Given the description of an element on the screen output the (x, y) to click on. 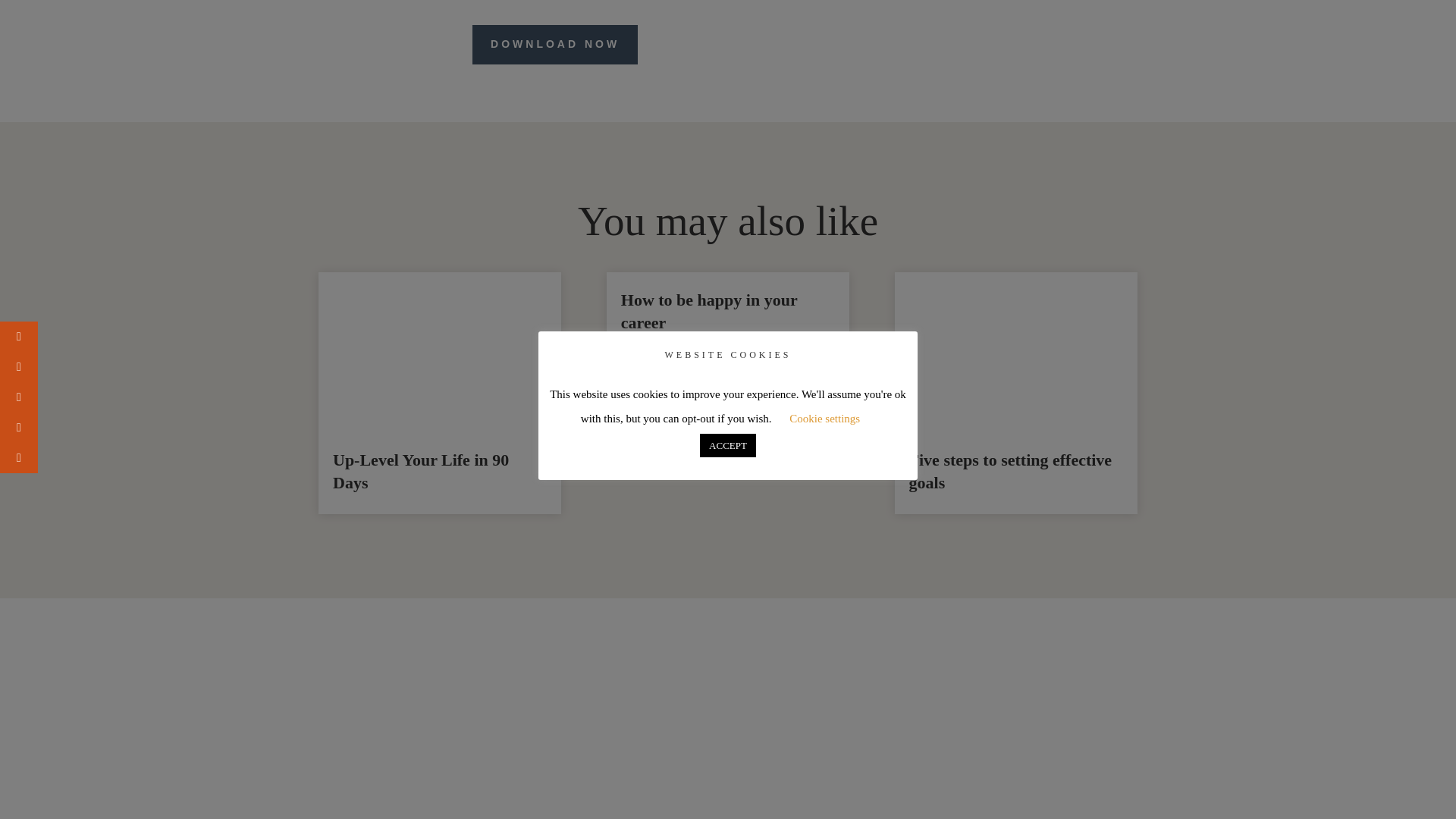
Follow on Instagram (988, 746)
